Given the description of an element on the screen output the (x, y) to click on. 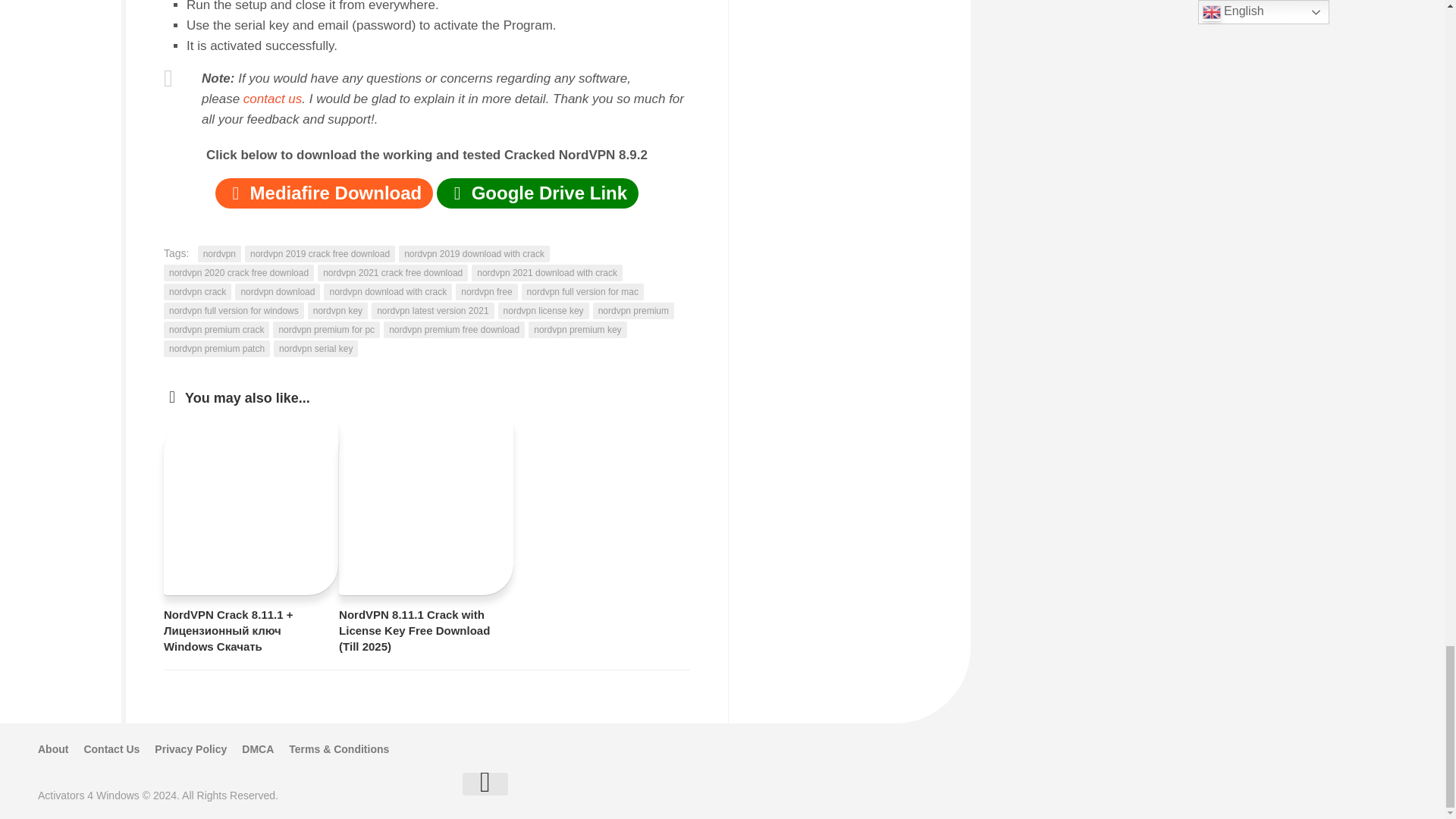
contact us (272, 98)
Mediafire Download (323, 193)
Mediafire Download Google Drive Link (427, 195)
